Given the description of an element on the screen output the (x, y) to click on. 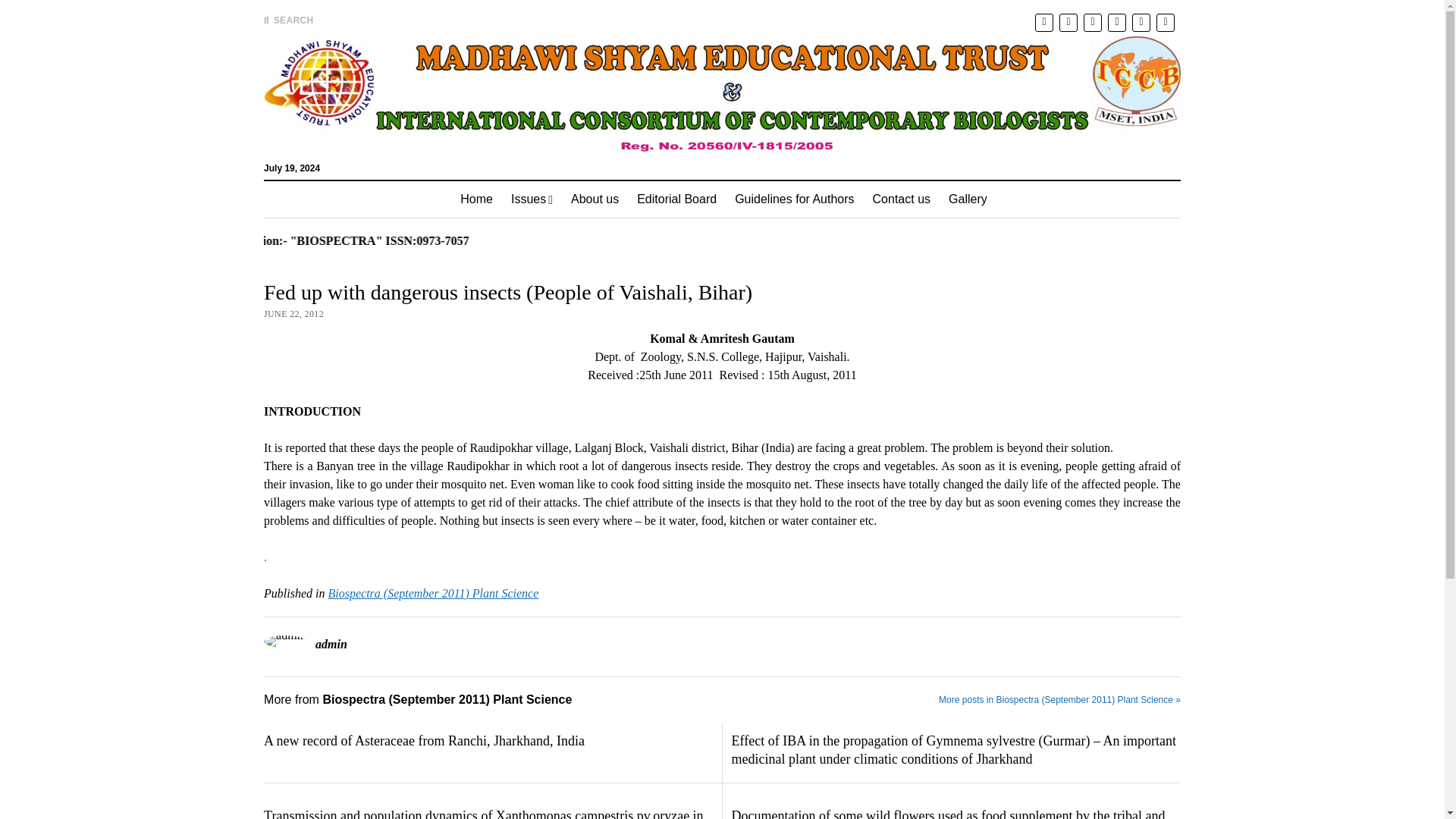
Issues (532, 198)
Home (476, 198)
phone (1141, 22)
SEARCH (288, 20)
Search (945, 129)
